Given the description of an element on the screen output the (x, y) to click on. 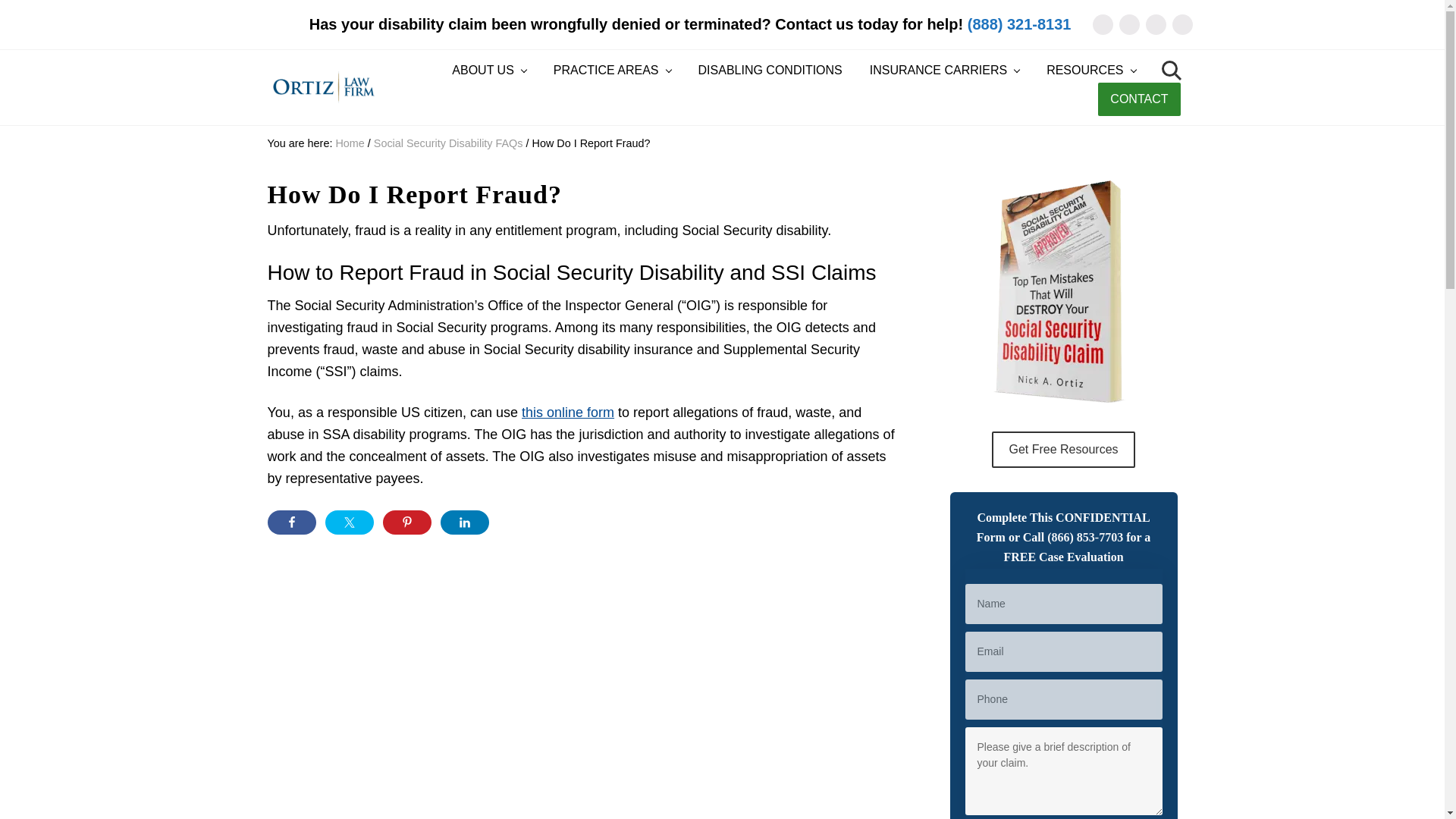
Email (1102, 24)
Share on Twitter (348, 522)
Email (1102, 24)
Share on Facebook (290, 522)
Facebook (1129, 24)
YouTube (1182, 24)
LinkedIn (1155, 24)
LinkedIn (1155, 24)
Facebook (1129, 24)
